Given the description of an element on the screen output the (x, y) to click on. 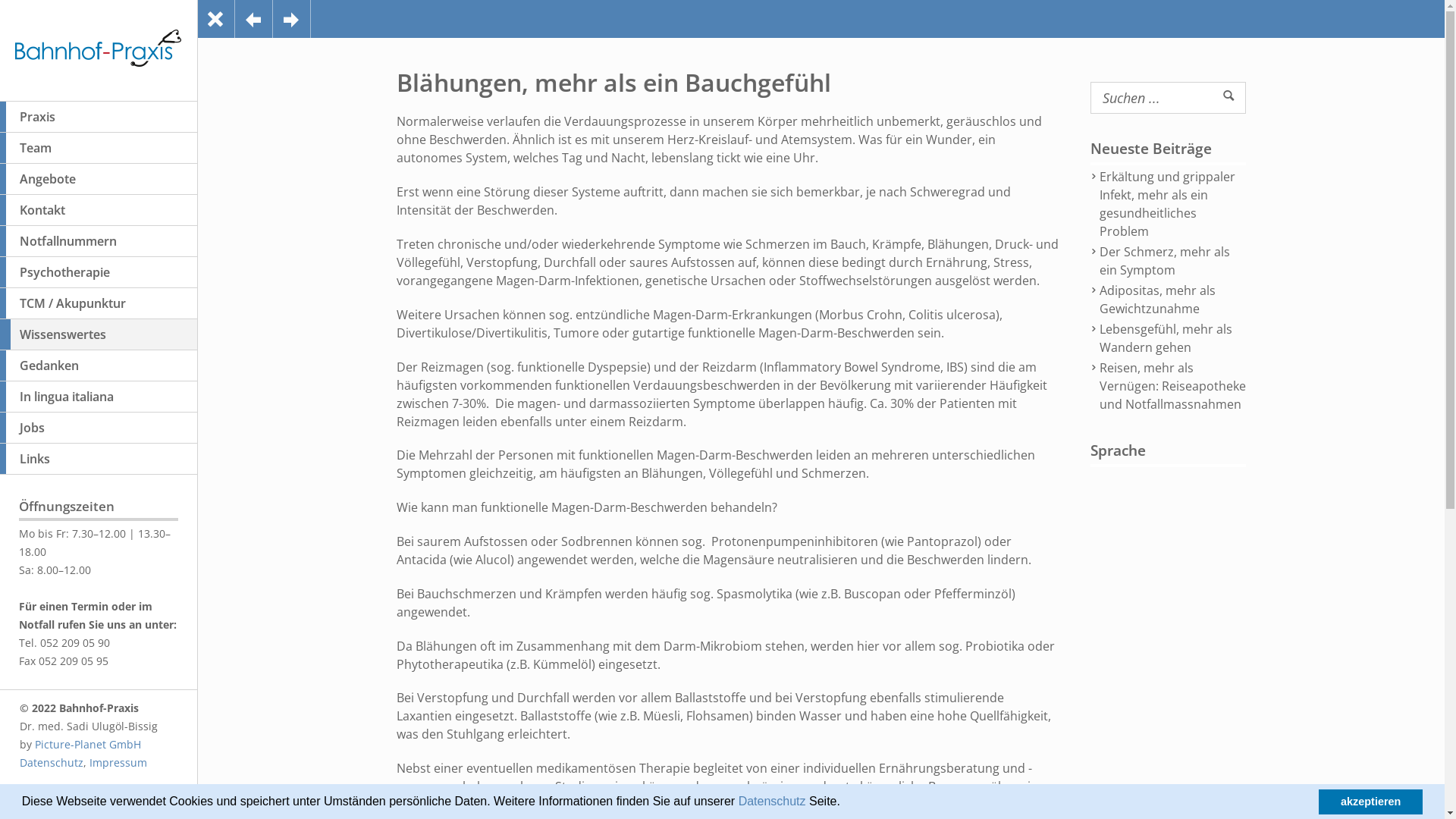
Datenschutz Element type: text (51, 762)
Wissenswertes Element type: text (98, 334)
Datenschutz Element type: text (772, 800)
Praxis Element type: text (98, 116)
Kontakt Element type: text (98, 209)
Angebote Element type: text (98, 178)
Der Schmerz, mehr als ein Symptom Element type: text (1172, 260)
Team Element type: text (98, 147)
Links Element type: text (98, 458)
akzeptieren Element type: text (1370, 801)
Jobs Element type: text (98, 427)
Psychotherapie Element type: text (98, 272)
In lingua italiana Element type: text (98, 396)
TCM / Akupunktur Element type: text (98, 303)
Notfallnummern Element type: text (98, 241)
Picture-Planet GmbH Element type: text (87, 744)
Adipositas, mehr als Gewichtzunahme Element type: text (1172, 299)
Gedanken Element type: text (98, 365)
Impressum Element type: text (118, 762)
